Given the description of an element on the screen output the (x, y) to click on. 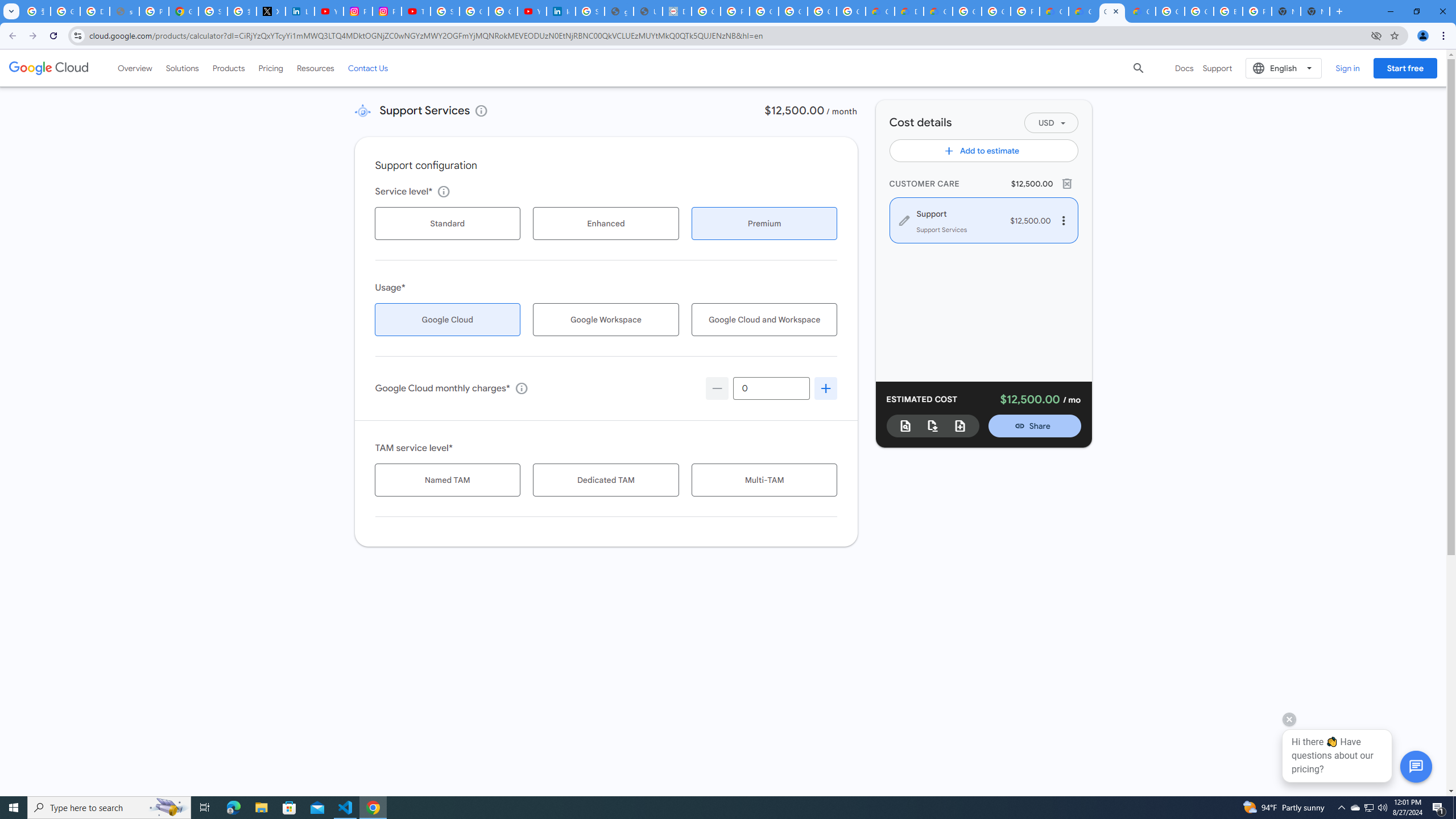
google_privacy_policy_en.pdf (619, 11)
Customer Care | Google Cloud (879, 11)
Start free (1405, 67)
New estimate from duplicate (960, 425)
Solutions (181, 67)
support.google.com - Network error (124, 11)
Pricing (270, 67)
Google Workspace - Specific Terms (821, 11)
